Given the description of an element on the screen output the (x, y) to click on. 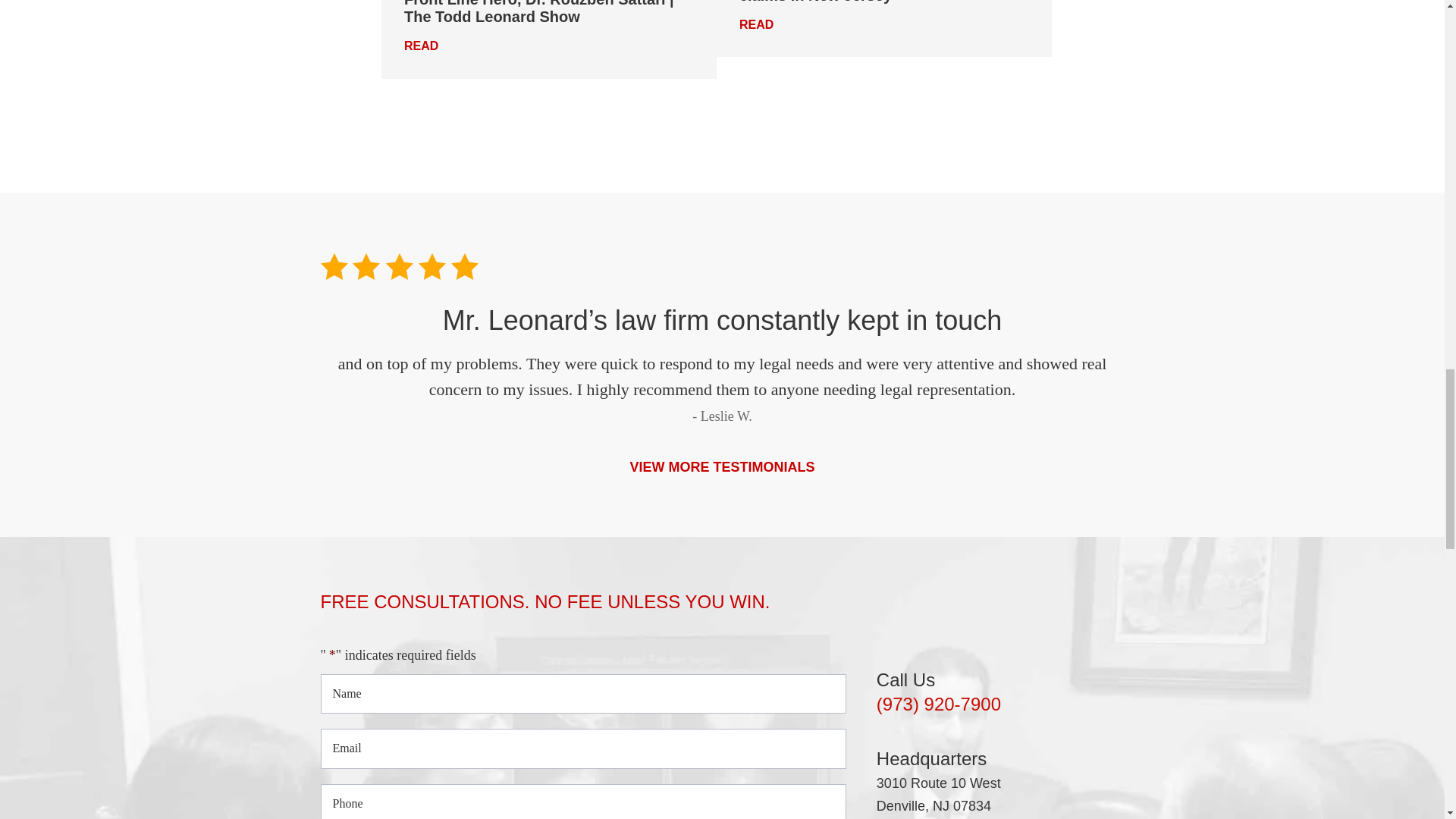
VIEW MORE TESTIMONIALS (720, 467)
Evaluating serious personal injury claims in New Jersey (863, 2)
